Given the description of an element on the screen output the (x, y) to click on. 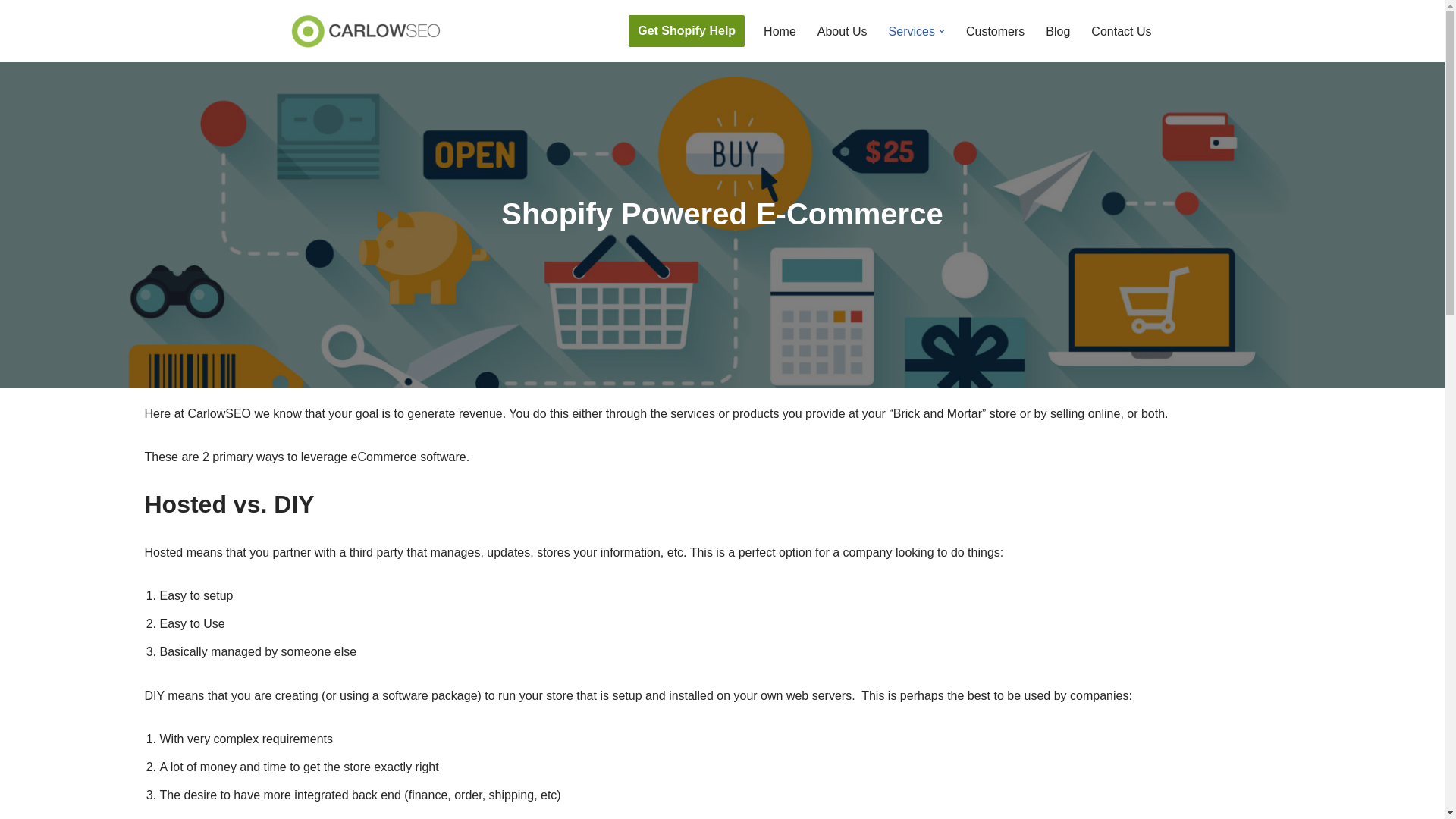
Get Shopify Help (686, 30)
Customers (995, 31)
Contact Us (1120, 31)
Home (779, 31)
Blog (1057, 31)
Services (911, 31)
Skip to content (11, 31)
About Us (841, 31)
